Given the description of an element on the screen output the (x, y) to click on. 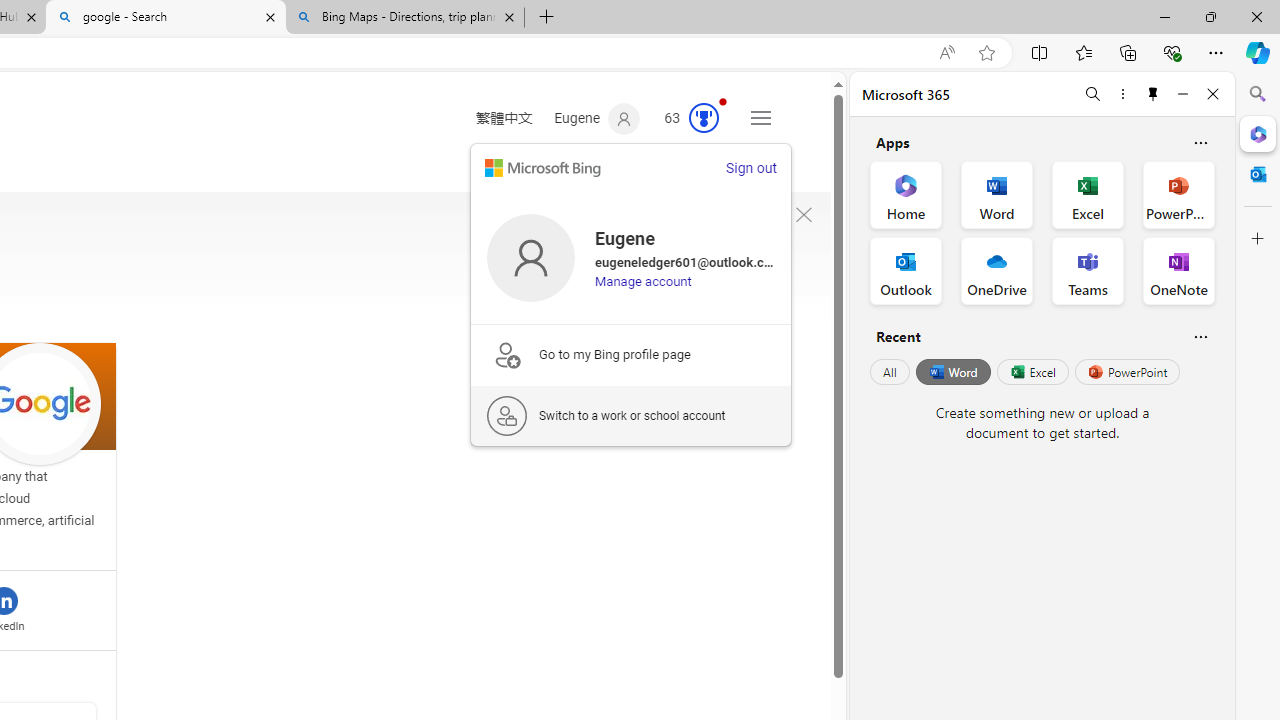
Outlook (1258, 174)
Excel (1031, 372)
Word (952, 372)
work signin (506, 416)
Microsoft Rewards 54 (685, 119)
Word Office App (996, 194)
Customize (1258, 239)
Is this helpful? (1200, 336)
Excel Office App (1087, 194)
To get missing image descriptions, open the context menu. (803, 215)
